Given the description of an element on the screen output the (x, y) to click on. 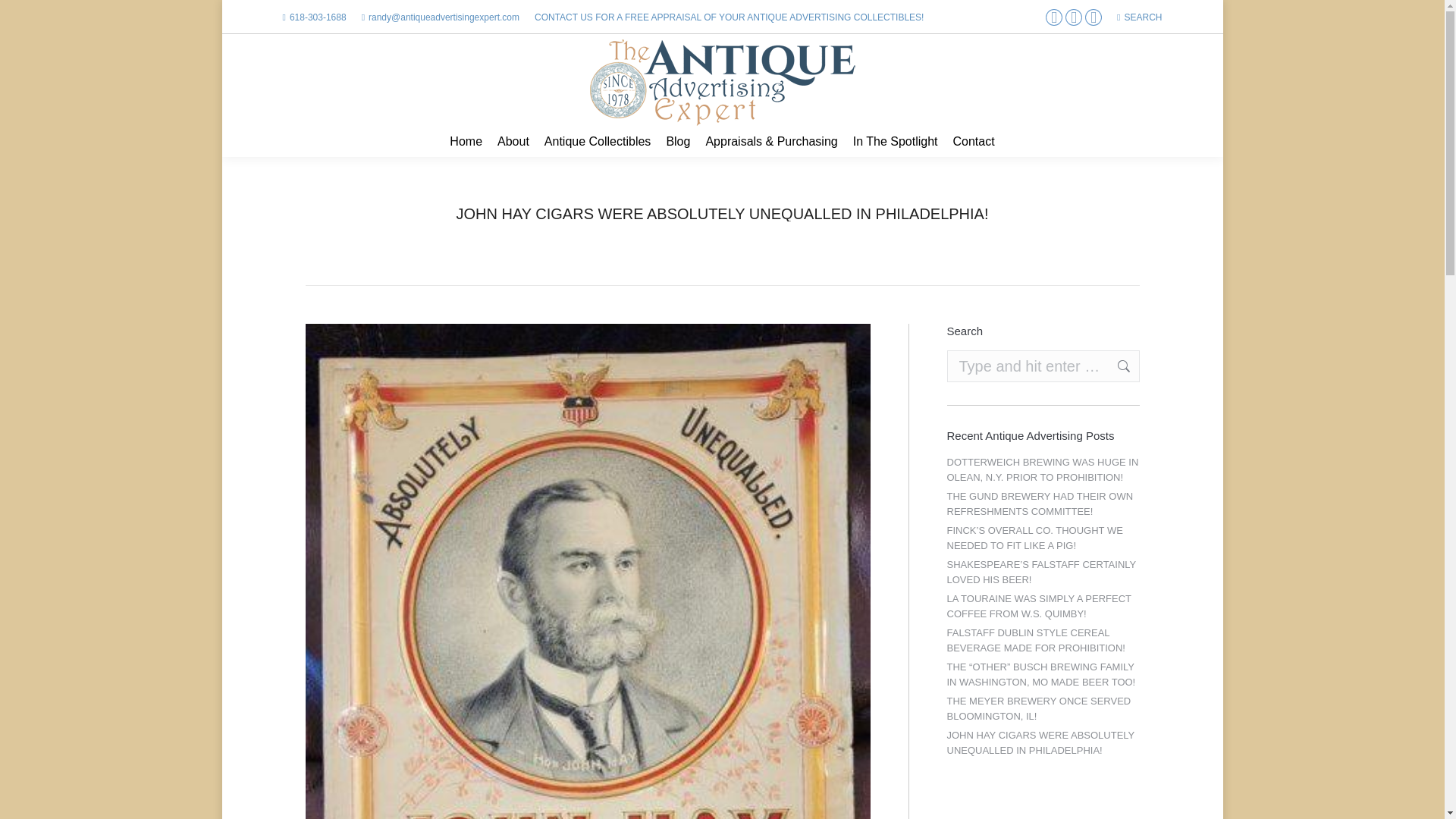
Facebook page opens in new window (1053, 17)
Go! (1115, 366)
Tobacciana (643, 229)
Home (465, 141)
SEARCH (1138, 17)
In The Spotlight (894, 141)
Twitter page opens in new window (1073, 17)
Go! (22, 15)
Blog (677, 141)
Twitter page opens in new window (1073, 17)
Contact (972, 141)
Antique Collectibles (598, 141)
Pinterest page opens in new window (1093, 17)
Pinterest page opens in new window (1093, 17)
Go! (1115, 366)
